Given the description of an element on the screen output the (x, y) to click on. 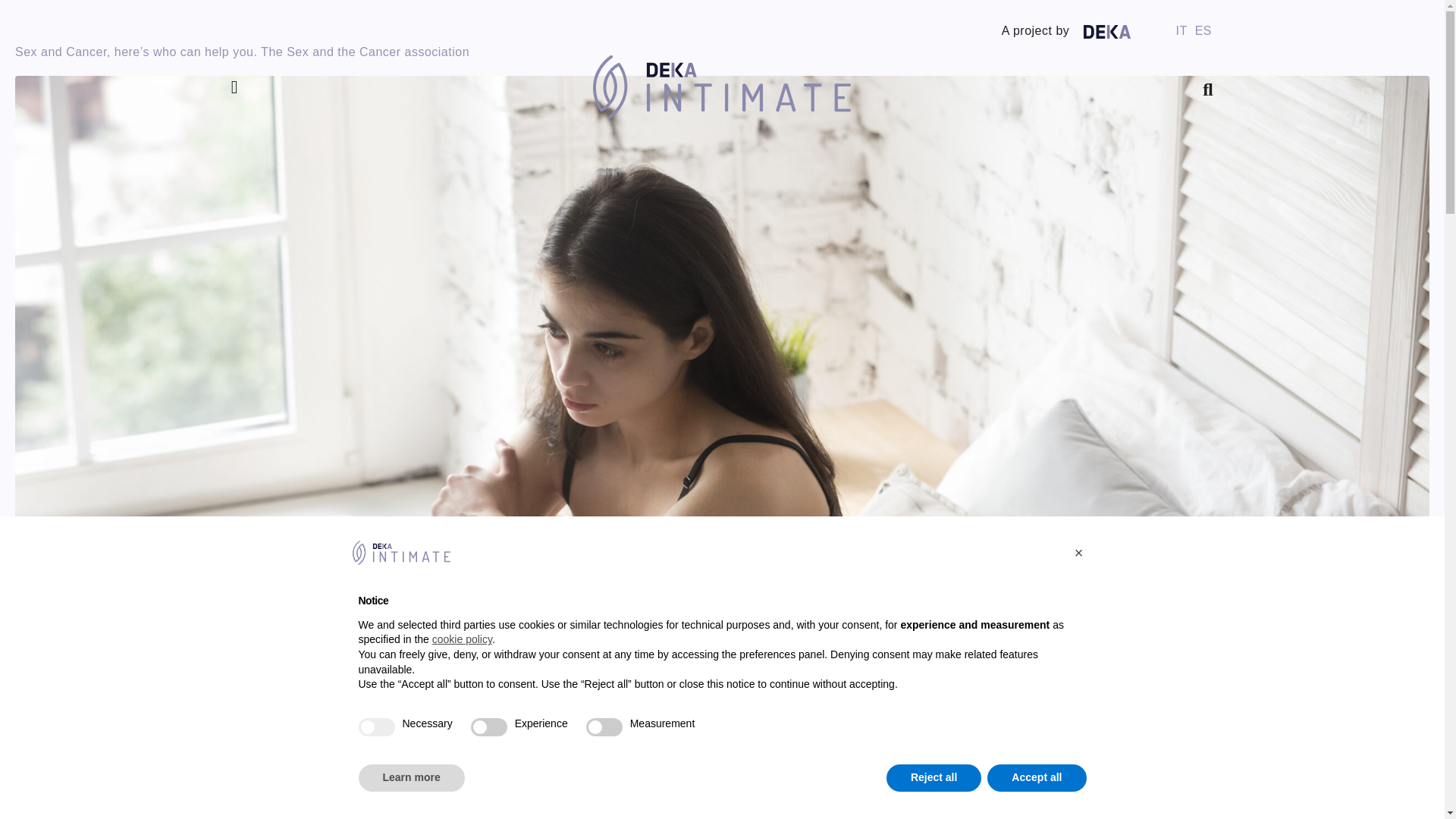
false (488, 727)
ES (1203, 31)
true (376, 727)
false (604, 727)
